Given the description of an element on the screen output the (x, y) to click on. 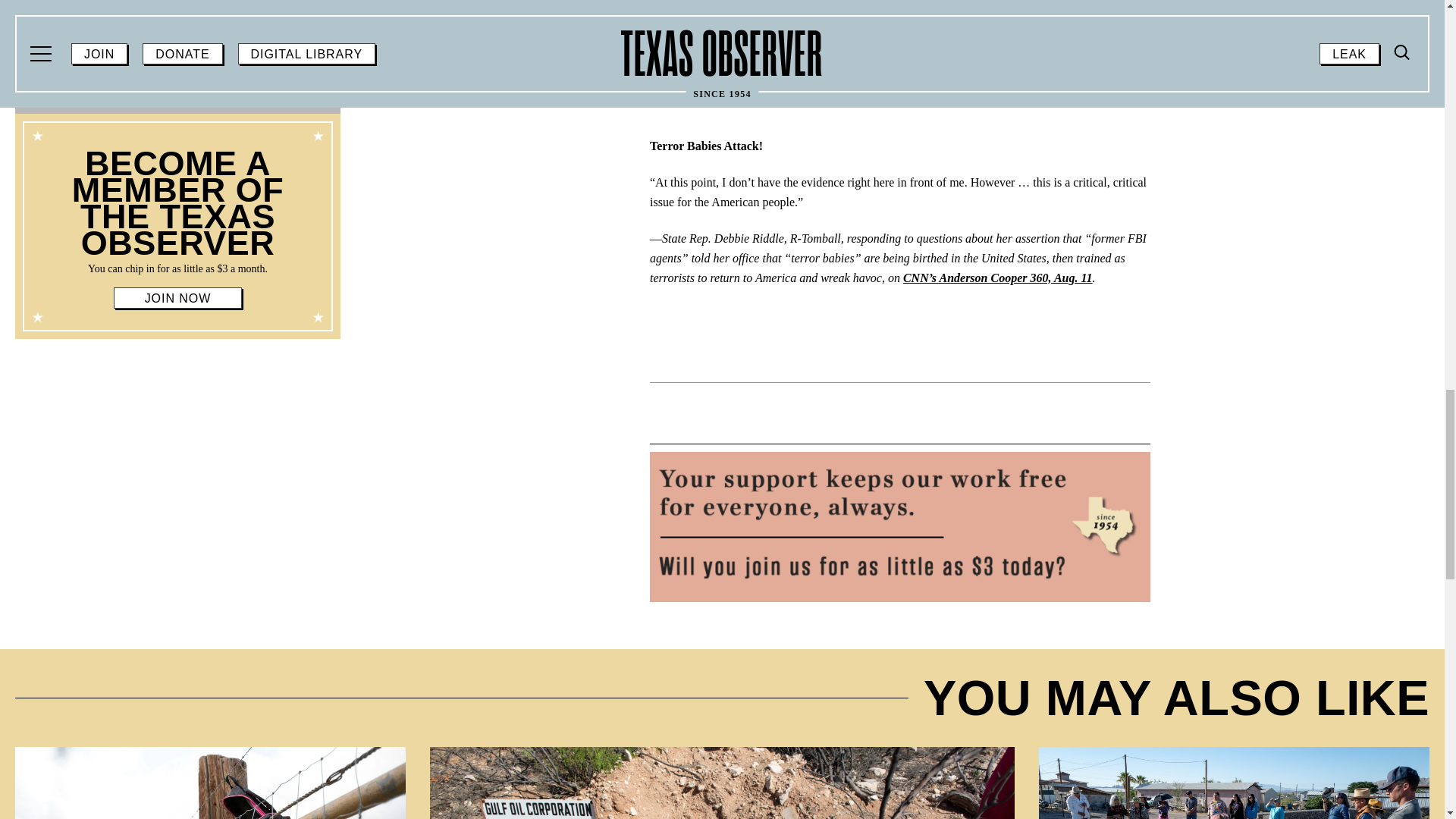
Page 8 (177, 268)
Page 8 (177, 212)
